Given the description of an element on the screen output the (x, y) to click on. 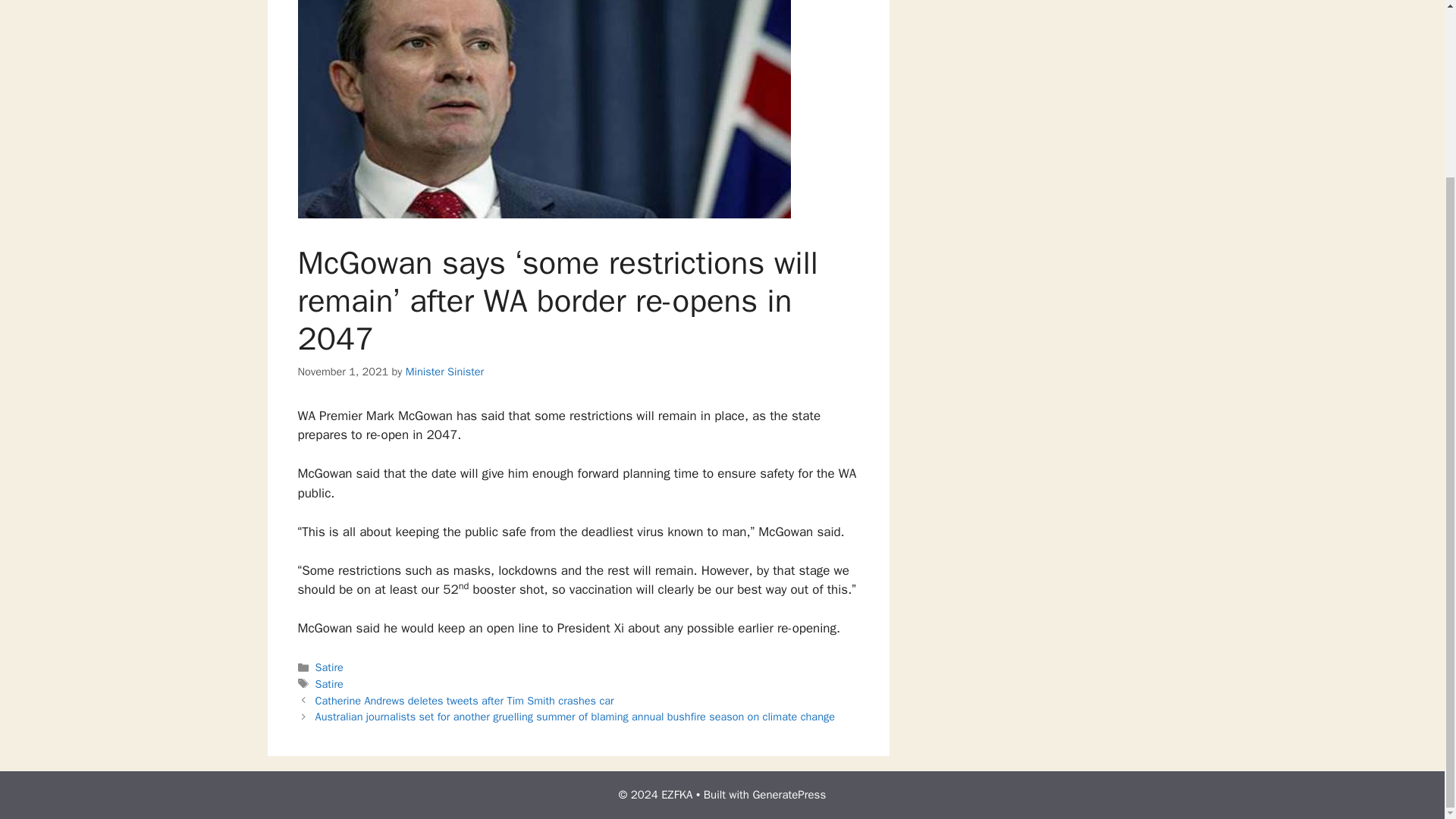
Satire (329, 684)
Satire (329, 667)
View all posts by Minister Sinister (445, 371)
GeneratePress (788, 794)
Minister Sinister (445, 371)
Catherine Andrews deletes tweets after Tim Smith crashes car (464, 700)
